Given the description of an element on the screen output the (x, y) to click on. 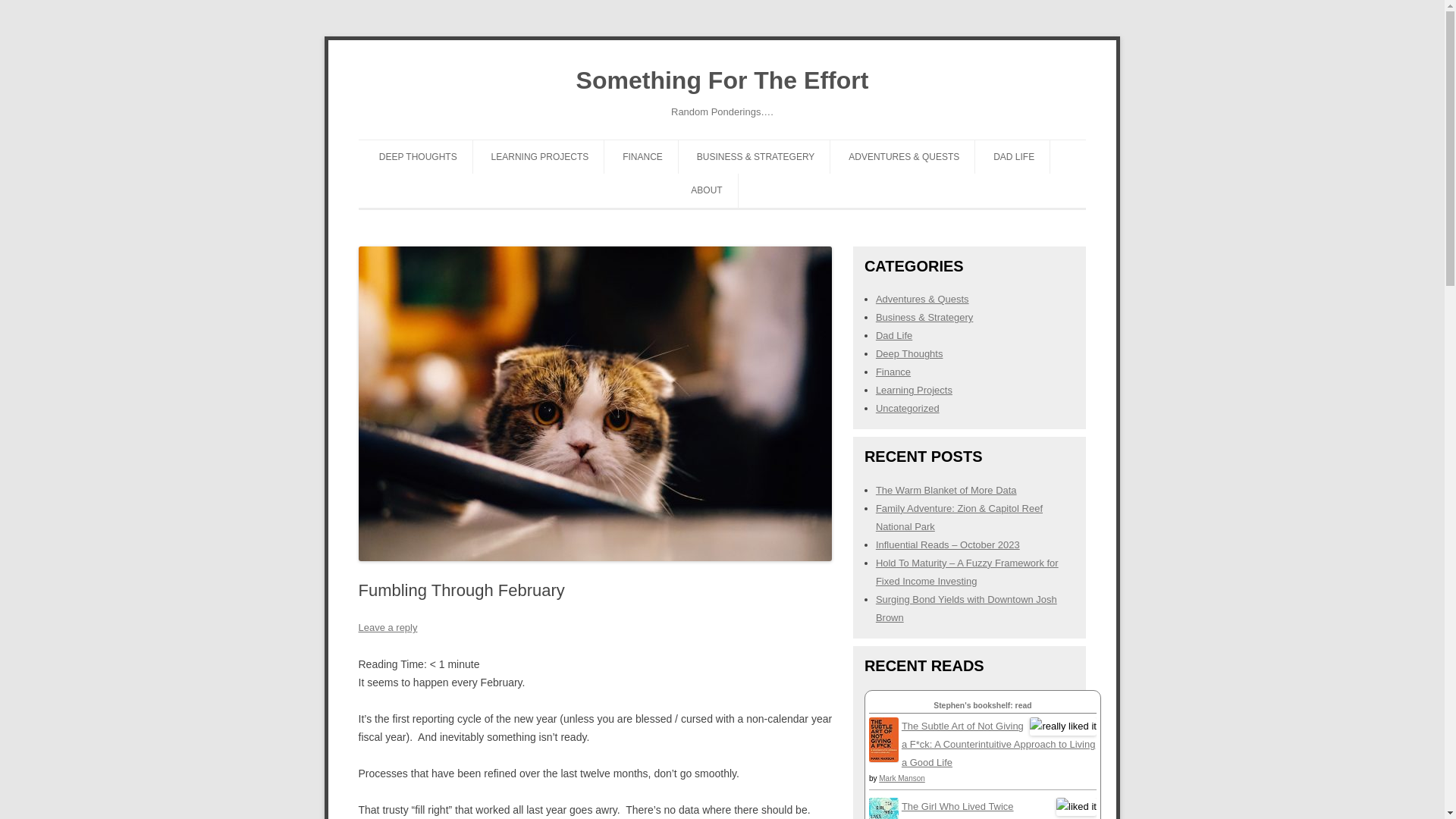
Something For The Effort (722, 80)
Mark Manson (901, 777)
Stephen's bookshelf: read (981, 705)
David Lagercrantz (941, 818)
DEEP THOUGHTS (417, 156)
FINANCE (642, 156)
Learning Projects (914, 389)
The Warm Blanket of More Data (946, 490)
Dad Life (894, 335)
LEARNING PROJECTS (540, 156)
liked it (1076, 806)
Uncategorized (907, 408)
Leave a reply (387, 627)
DAD LIFE (1012, 156)
Finance (893, 371)
